Given the description of an element on the screen output the (x, y) to click on. 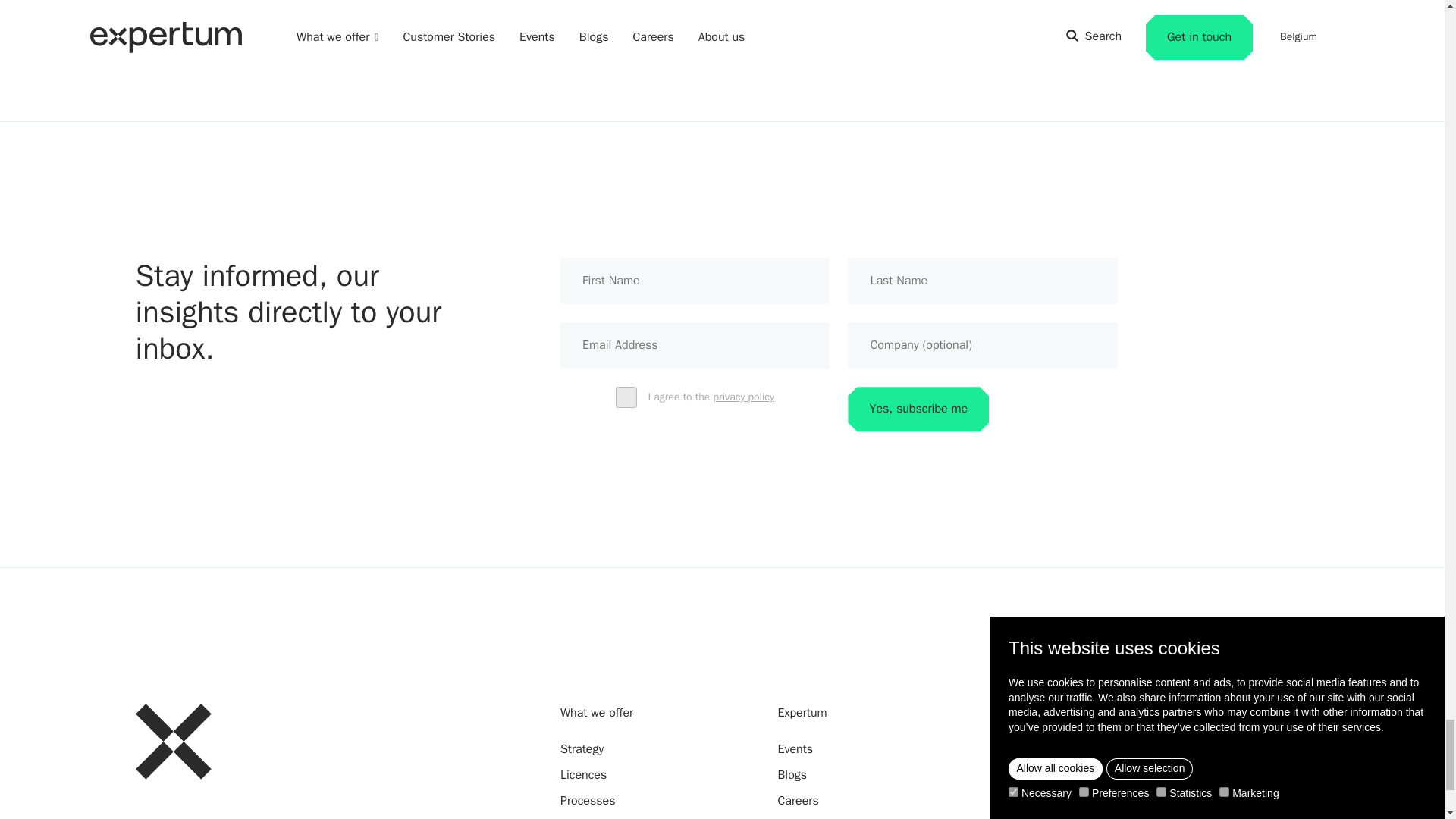
I agree to the privacy policy (565, 391)
